Given the description of an element on the screen output the (x, y) to click on. 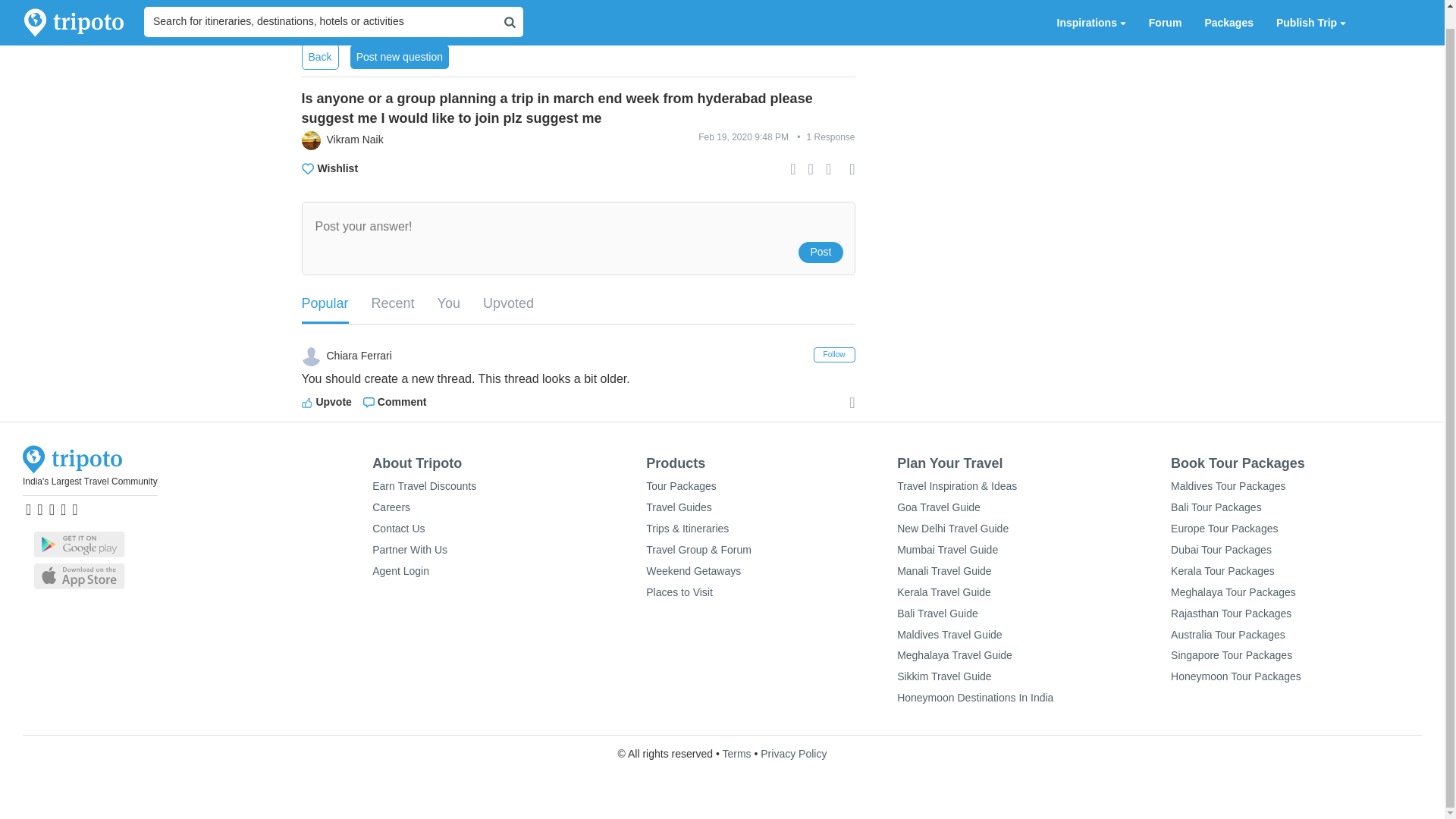
Inspirations (1091, 13)
Publish Trip  (1310, 13)
Chiara Ferrari (439, 356)
Packages (1228, 13)
Packages (1228, 13)
Back (320, 56)
Forum (1165, 13)
Popular (325, 305)
Post new question (399, 56)
Upvoted (508, 303)
